Given the description of an element on the screen output the (x, y) to click on. 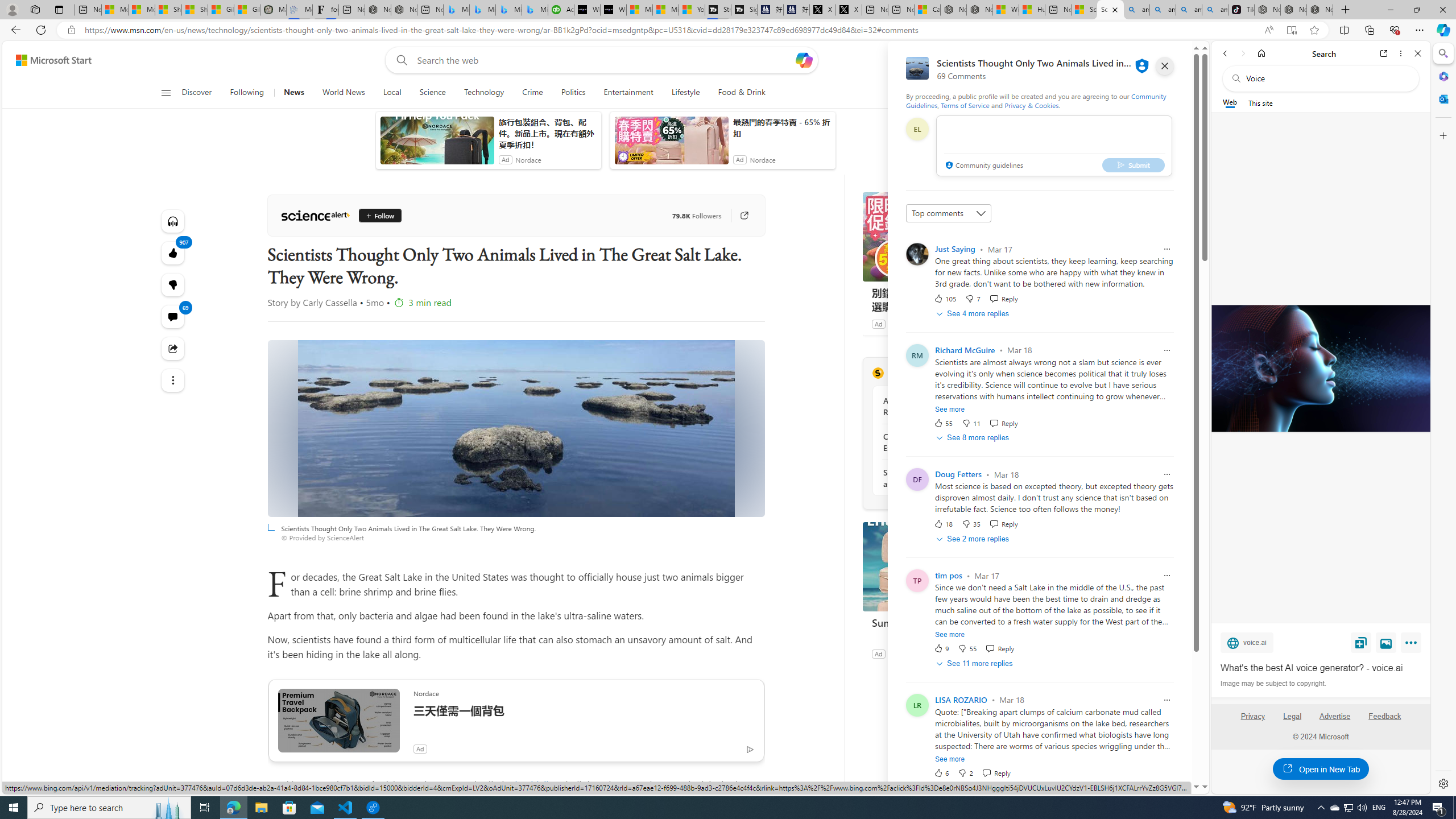
Microsoft 365 (1442, 76)
Workspaces (34, 9)
Outlook (1442, 98)
Listen to this article (172, 220)
Open in New Tab (1321, 768)
Read aloud this page (Ctrl+Shift+U) (1268, 29)
See 2 more replies (973, 539)
This site scope (1259, 102)
Microsoft Bing Travel - Stays in Bangkok, Bangkok, Thailand (482, 9)
Notifications (1152, 60)
Politics (572, 92)
Summer Adventure Sale (947, 622)
Food & Drink (741, 92)
